Given the description of an element on the screen output the (x, y) to click on. 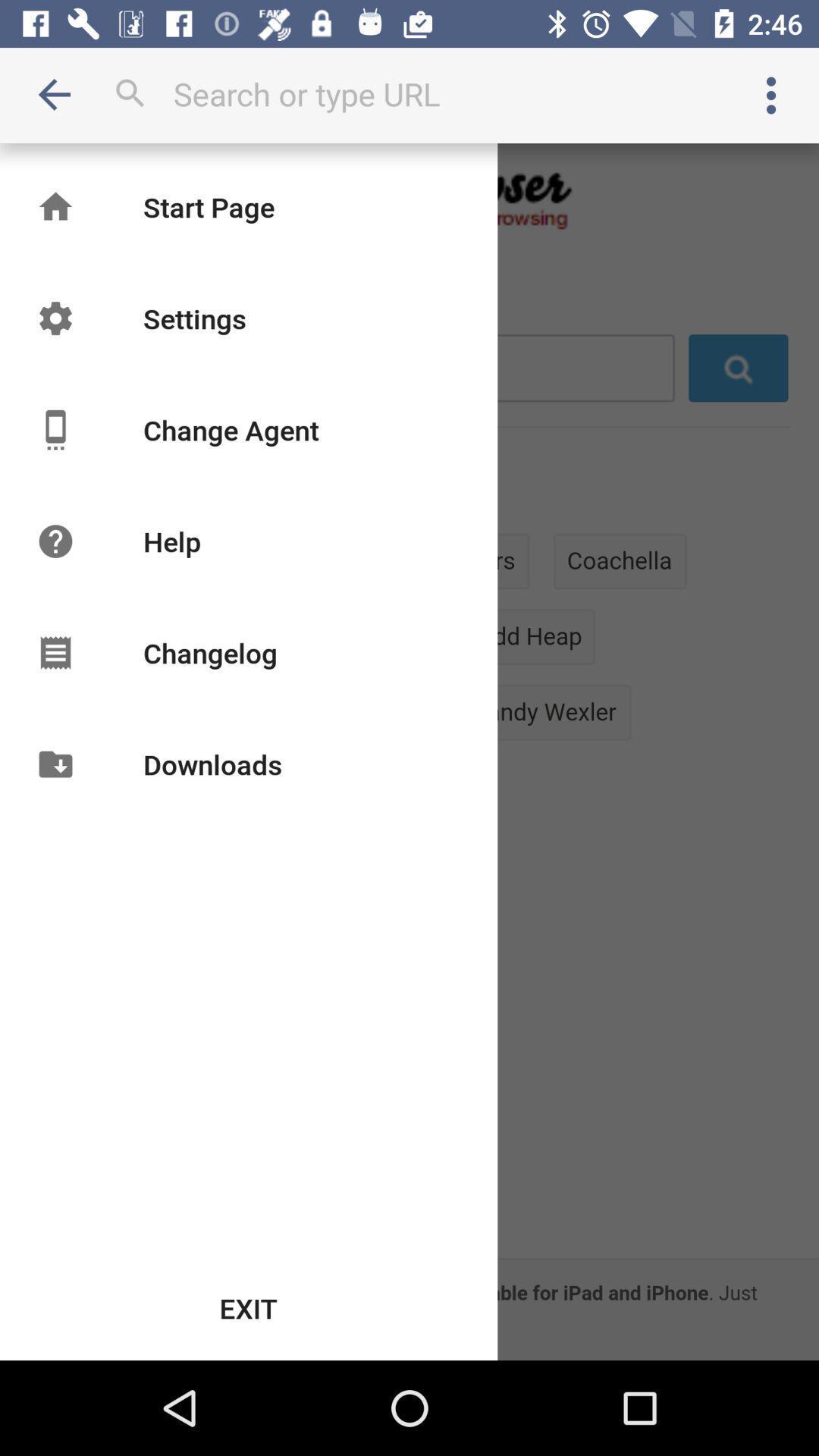
open settings item (194, 318)
